Given the description of an element on the screen output the (x, y) to click on. 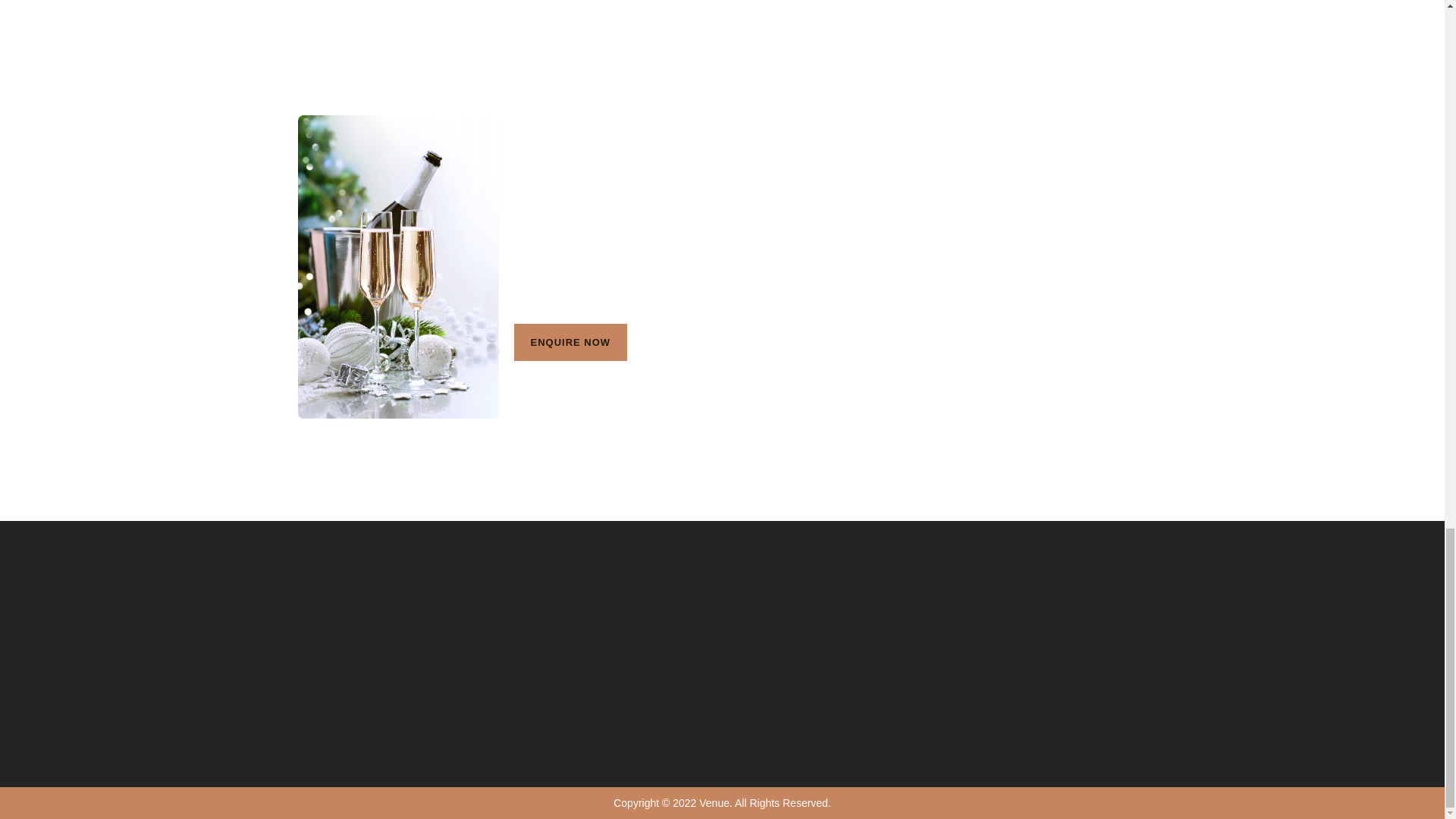
ENQUIRE NOW (570, 342)
